Given the description of an element on the screen output the (x, y) to click on. 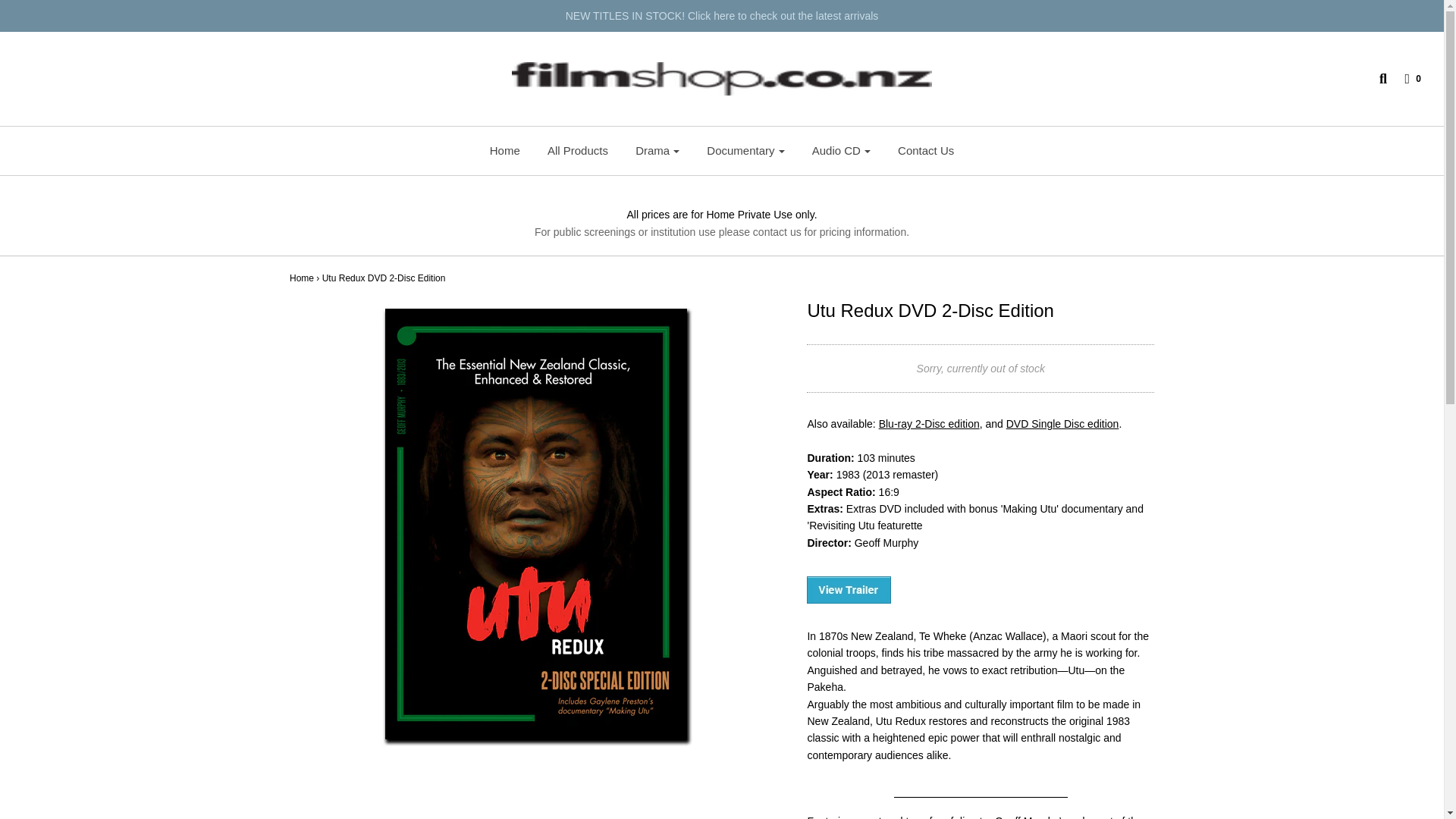
Search (1375, 78)
Cart (1405, 78)
Utu Redux Blu-ray 2-Disc Edition (929, 423)
Utu Redux DVD Single Disc Edition (1062, 423)
Back to the frontpage (301, 277)
